Given the description of an element on the screen output the (x, y) to click on. 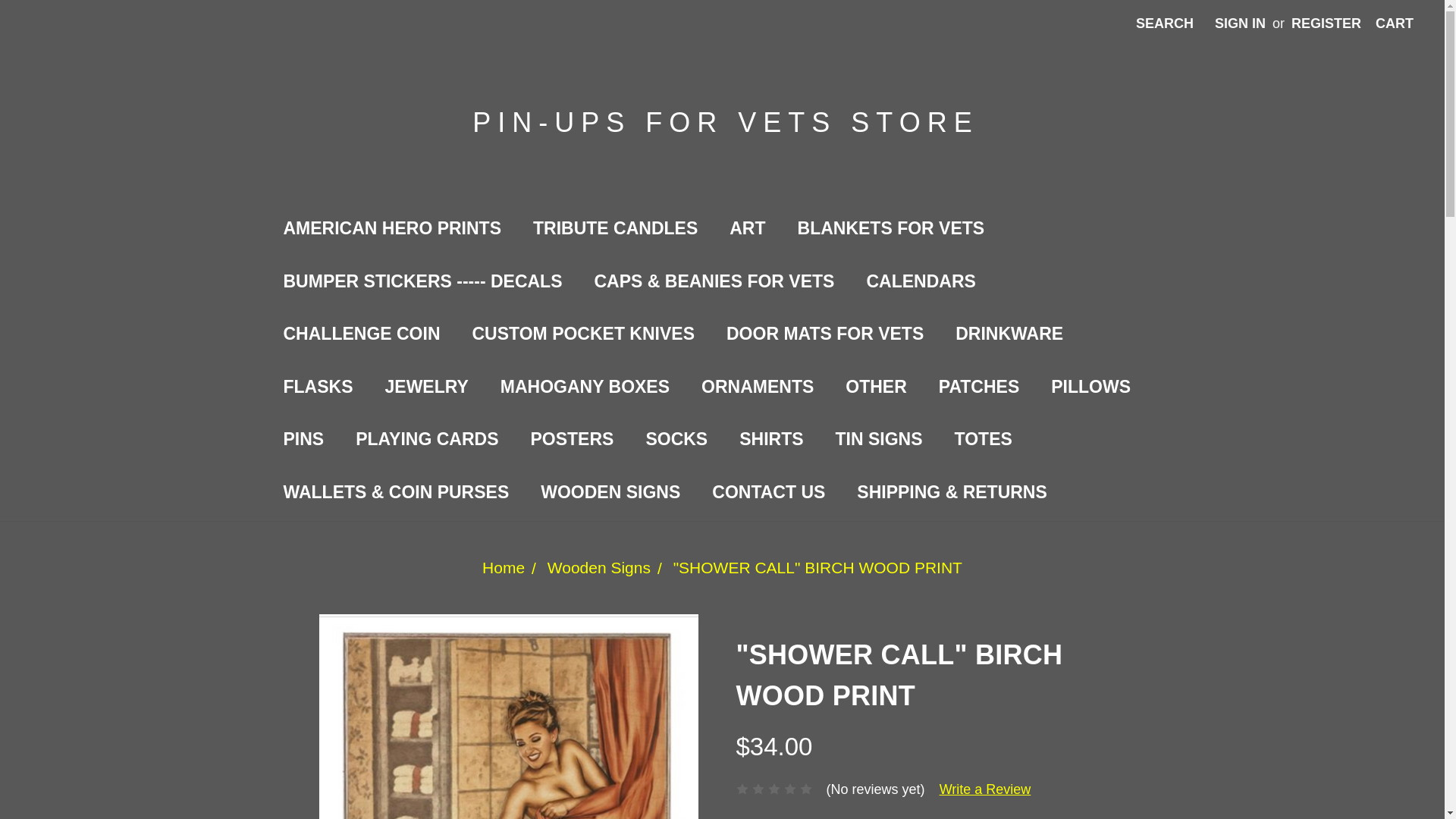
TIN SIGNS (879, 441)
ORNAMENTS (757, 388)
PILLOWS (1091, 388)
BUMPER STICKERS ----- DECALS (422, 284)
TRIBUTE CANDLES (614, 230)
SIGN IN (1240, 23)
REGISTER (1326, 23)
POSTERS (570, 441)
SEARCH (1164, 23)
Wooden Signs (598, 567)
SHIRTS (770, 441)
DOOR MATS FOR VETS (824, 336)
AMERICAN HERO PRINTS (391, 230)
TOTES (983, 441)
CHALLENGE COIN (360, 336)
